Given the description of an element on the screen output the (x, y) to click on. 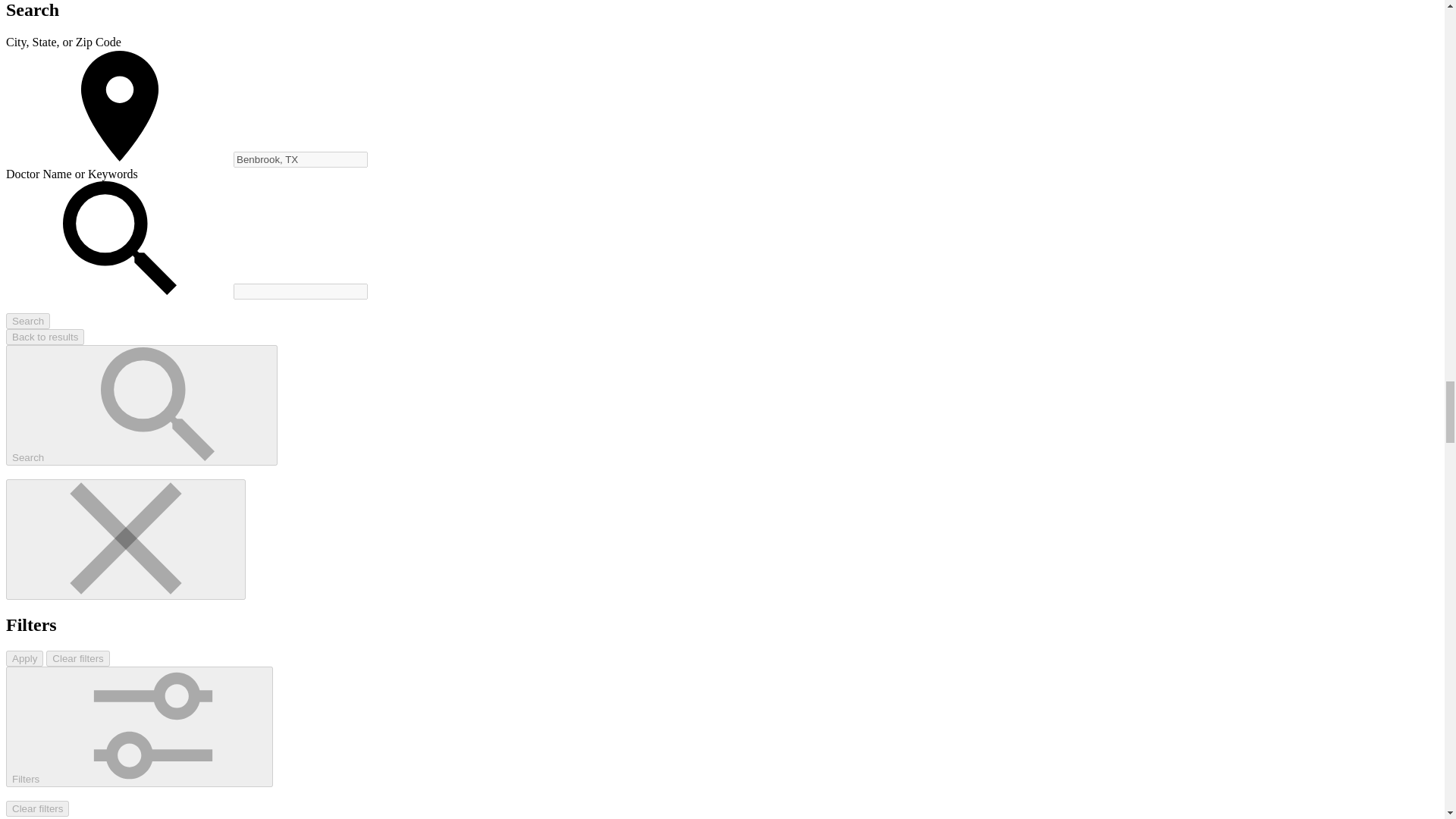
Clear filters (77, 658)
Apply (24, 658)
Back to results (44, 336)
Clear filters (36, 808)
Search (27, 320)
Search (141, 405)
Filters (139, 726)
Benbrook, TX (300, 159)
